Given the description of an element on the screen output the (x, y) to click on. 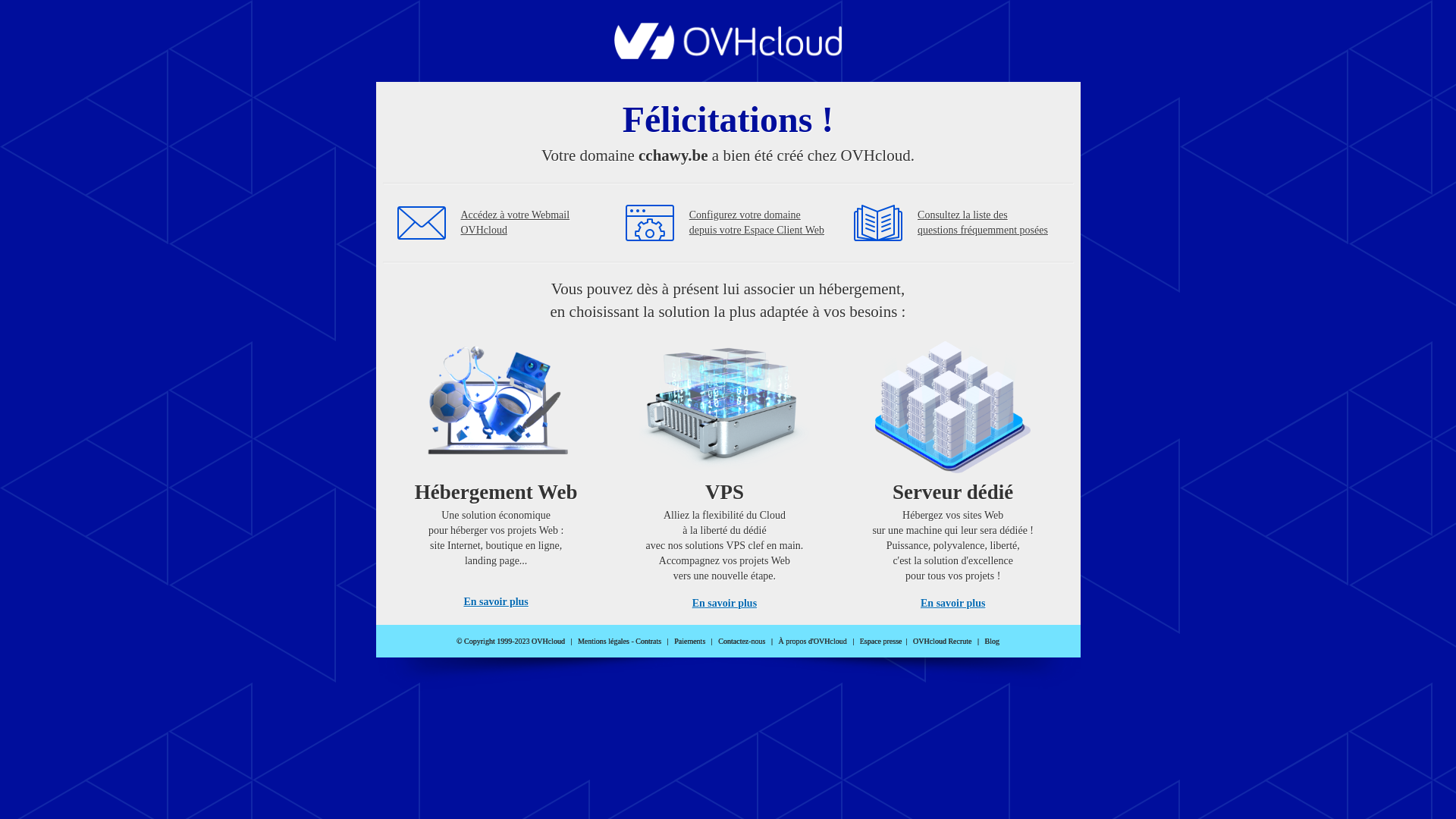
Paiements Element type: text (689, 641)
Contactez-nous Element type: text (741, 641)
Blog Element type: text (992, 641)
En savoir plus Element type: text (952, 602)
VPS Element type: hover (724, 469)
Espace presse Element type: text (880, 641)
OVHcloud Recrute Element type: text (942, 641)
OVHcloud Element type: hover (727, 54)
En savoir plus Element type: text (724, 602)
En savoir plus Element type: text (495, 601)
Configurez votre domaine
depuis votre Espace Client Web Element type: text (756, 222)
